Given the description of an element on the screen output the (x, y) to click on. 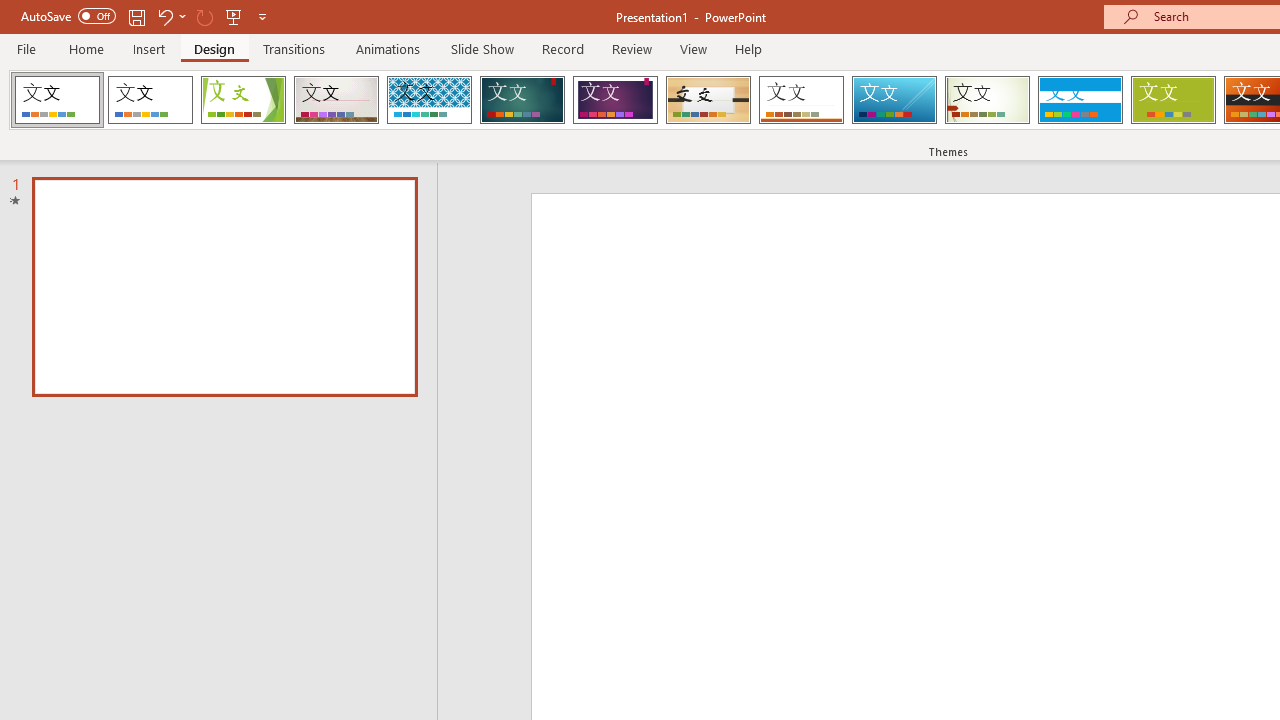
Slice Loading Preview... (893, 100)
